Given the description of an element on the screen output the (x, y) to click on. 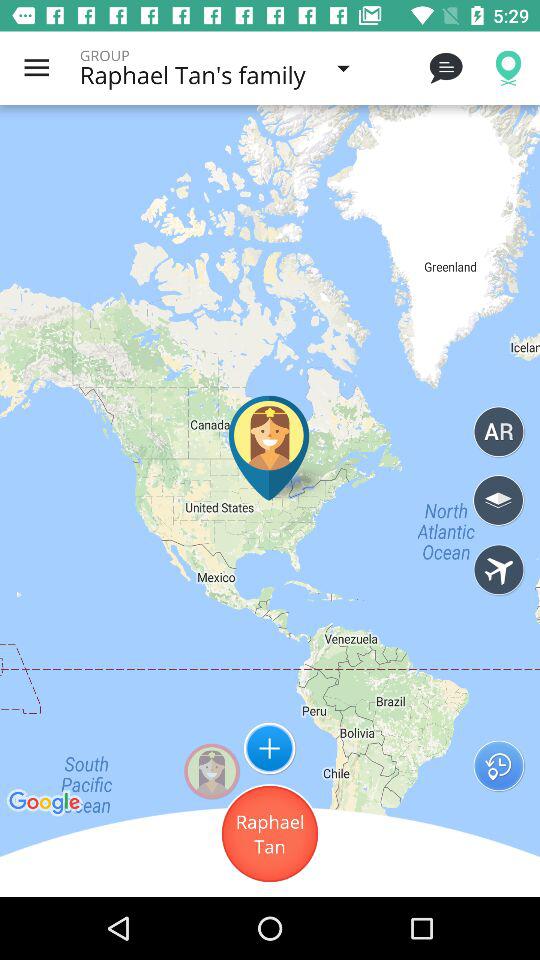
toggle family locater (498, 569)
